Given the description of an element on the screen output the (x, y) to click on. 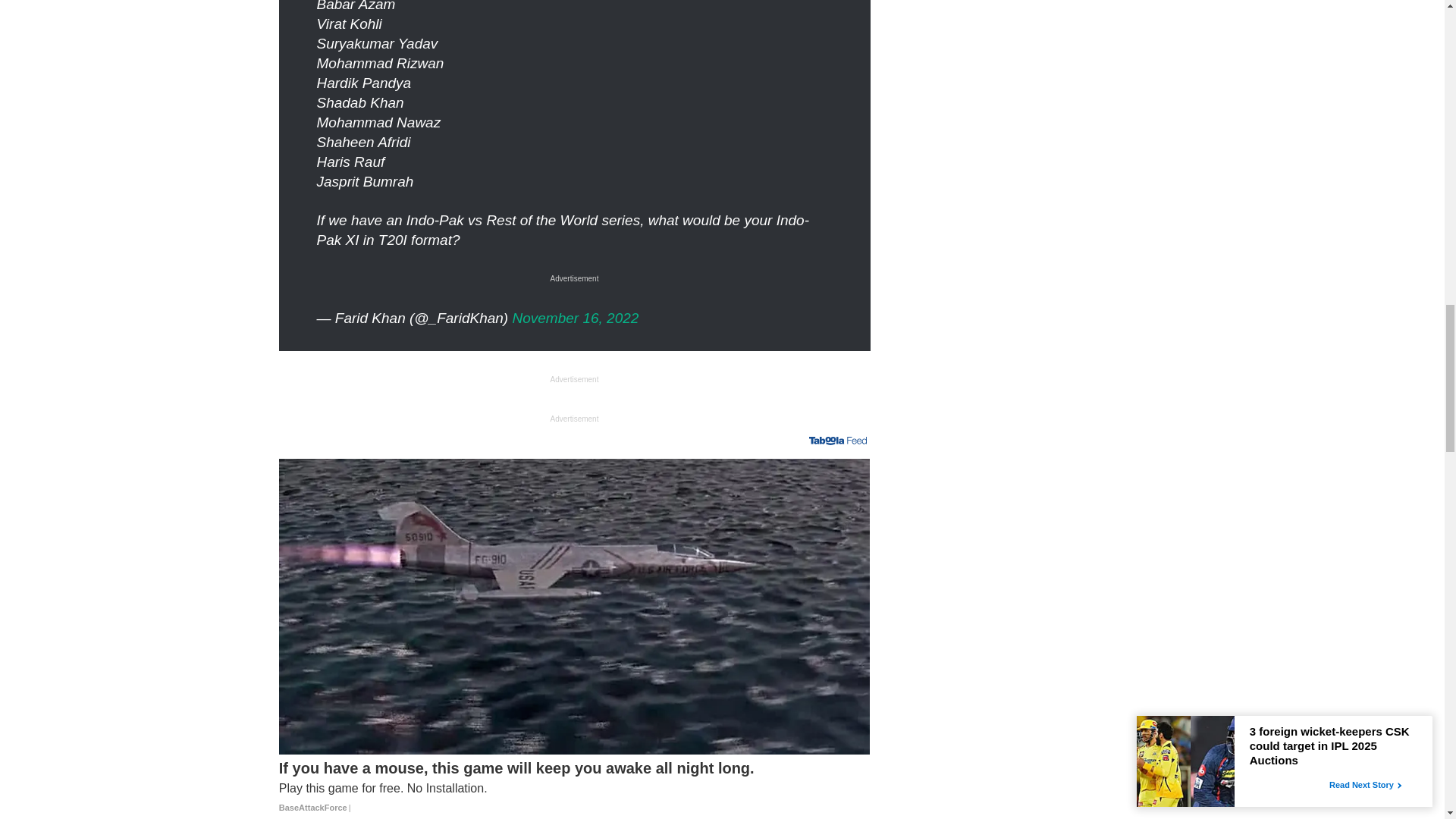
November 16, 2022 (575, 317)
